Given the description of an element on the screen output the (x, y) to click on. 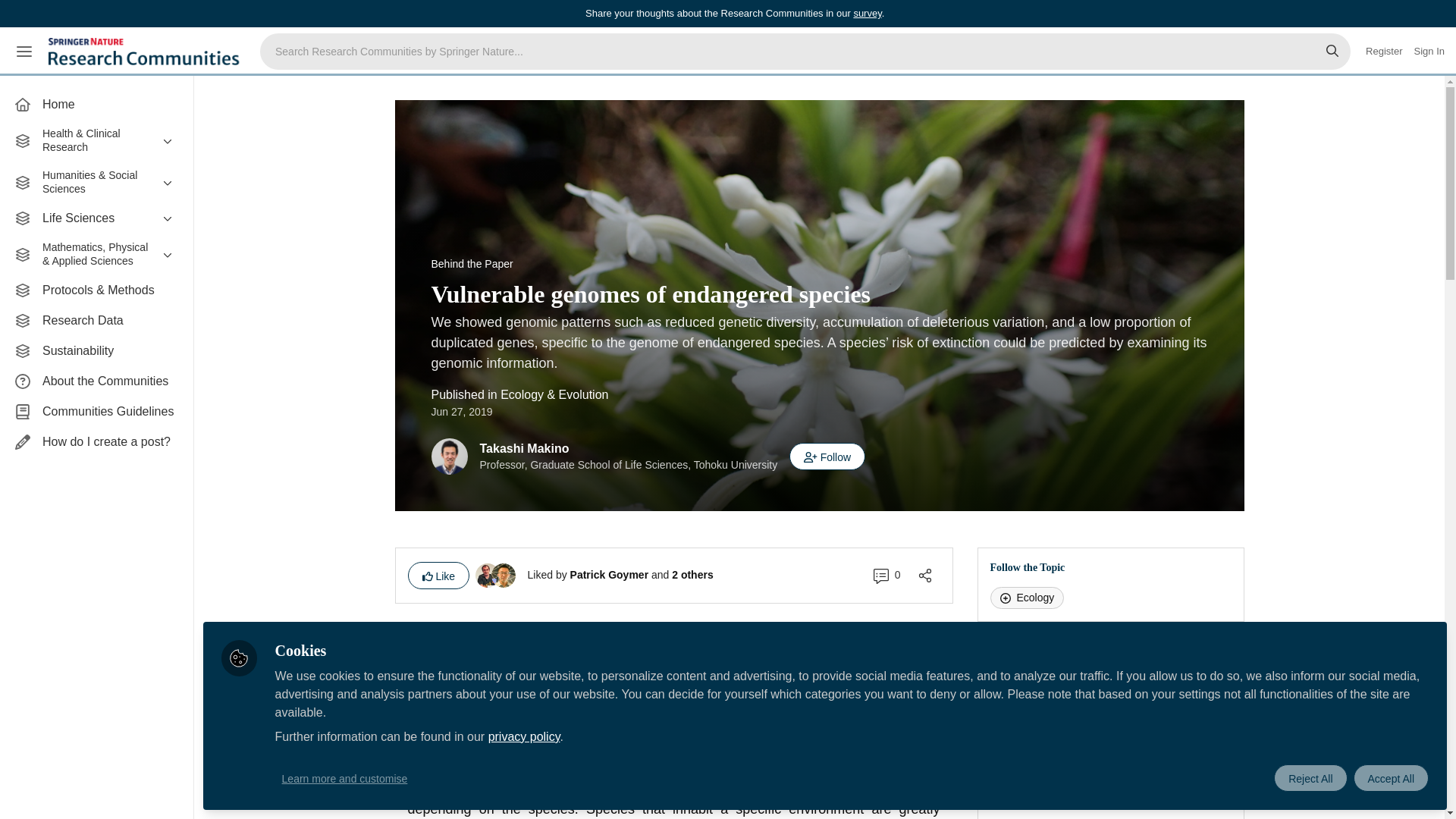
survey (866, 12)
Home (96, 103)
Life Sciences (96, 217)
Life Sciences (96, 217)
Home (96, 103)
Menu (24, 51)
Research Communities by Springer Nature (146, 51)
Search (1332, 51)
